Given the description of an element on the screen output the (x, y) to click on. 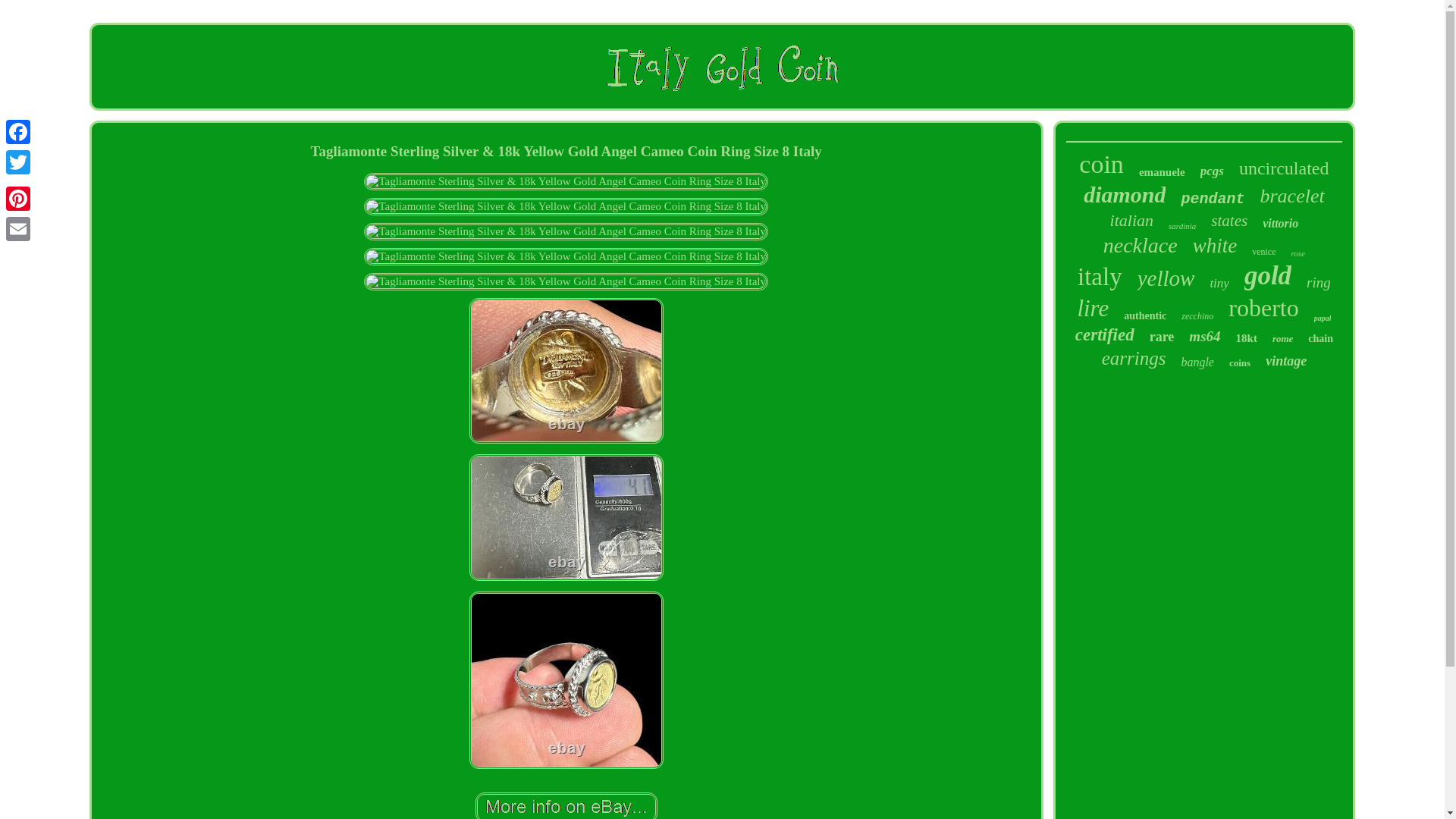
venice (1263, 251)
certified (1104, 334)
tiny (1218, 283)
white (1214, 245)
Email (17, 228)
lire (1092, 308)
uncirculated (1284, 168)
italian (1131, 220)
Pinterest (17, 198)
rare (1162, 336)
